Given the description of an element on the screen output the (x, y) to click on. 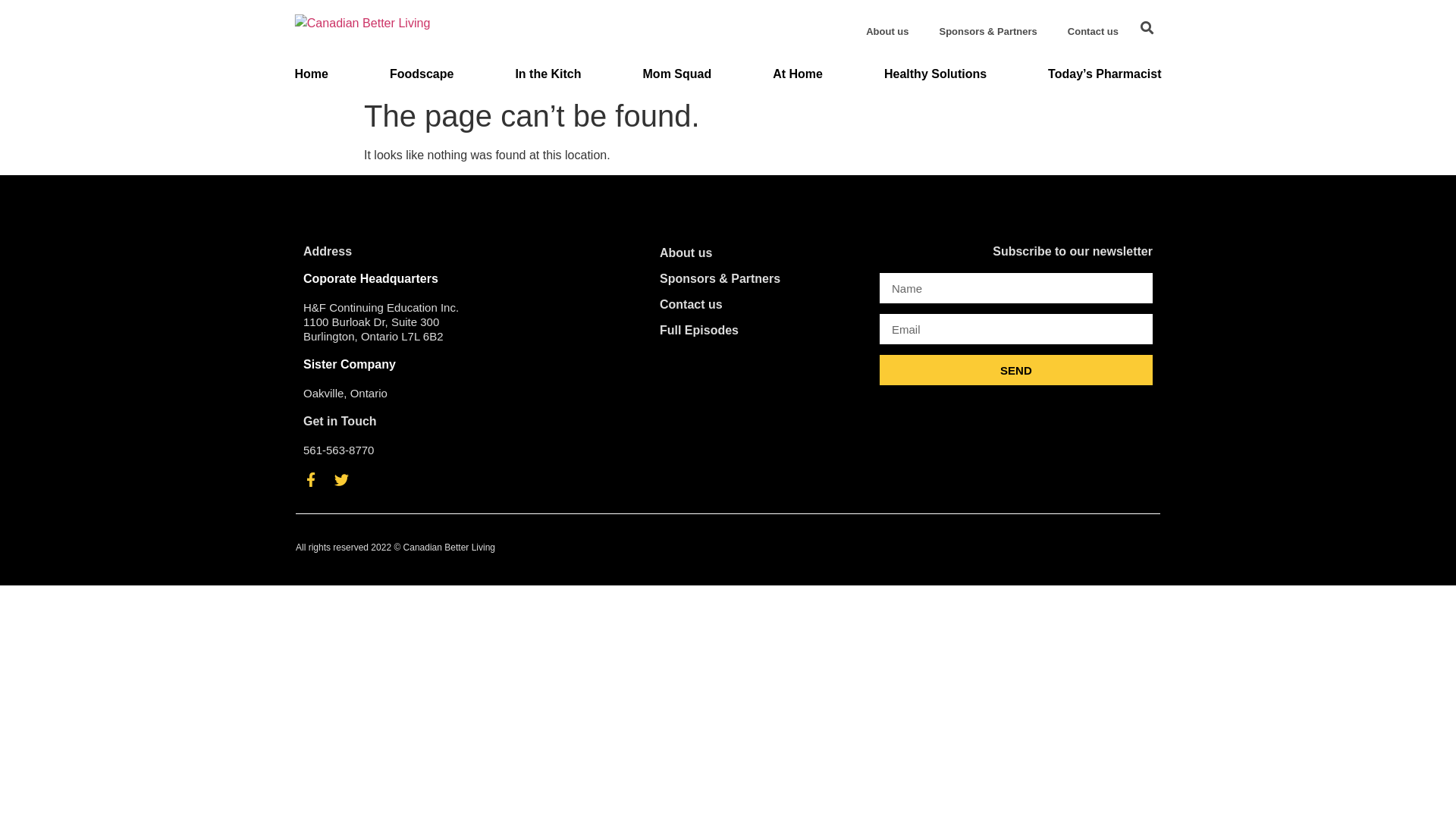
Home Element type: text (310, 73)
Contact us Element type: text (761, 304)
About us Element type: text (886, 31)
Mom Squad Element type: text (677, 73)
Sponsors & Partners Element type: text (761, 278)
Healthy Solutions Element type: text (935, 73)
Full Episodes Element type: text (761, 330)
Foodscape Element type: text (421, 73)
About us Element type: text (761, 252)
SEND Element type: text (1015, 369)
At Home Element type: text (797, 73)
In the Kitch Element type: text (547, 73)
Sponsors & Partners Element type: text (987, 31)
Contact us Element type: text (1092, 31)
